Given the description of an element on the screen output the (x, y) to click on. 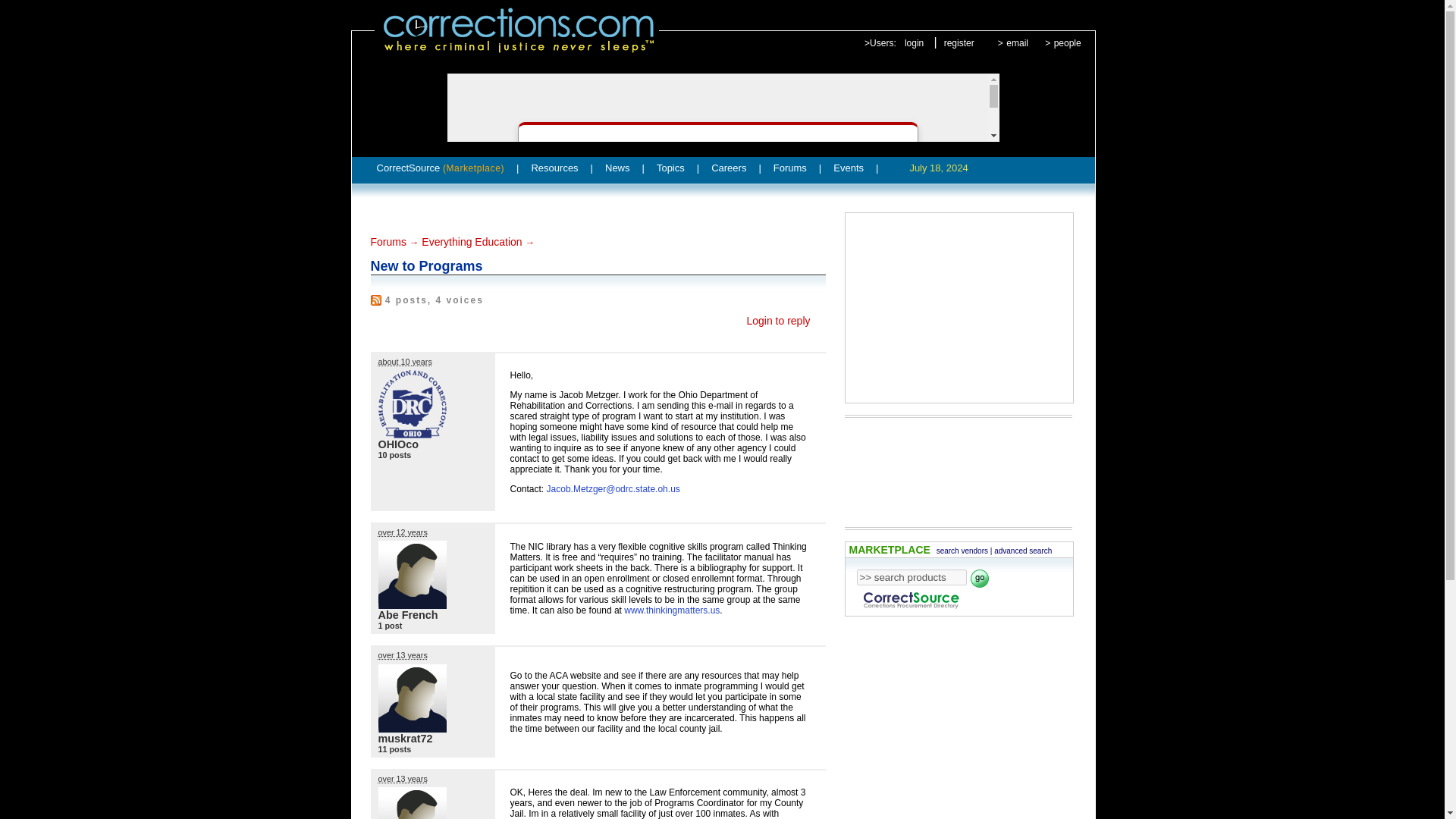
Everything Education (471, 241)
Forums (789, 168)
2011-02-20T14:19:36Z (401, 777)
login (913, 42)
Careers (728, 168)
2012-01-05T15:12:28Z (401, 532)
Advertisement (952, 465)
Topics (670, 168)
Events (848, 168)
register (958, 42)
Login to reply (777, 320)
people (1067, 42)
Advertisement (957, 307)
News (617, 168)
email (1016, 42)
